Given the description of an element on the screen output the (x, y) to click on. 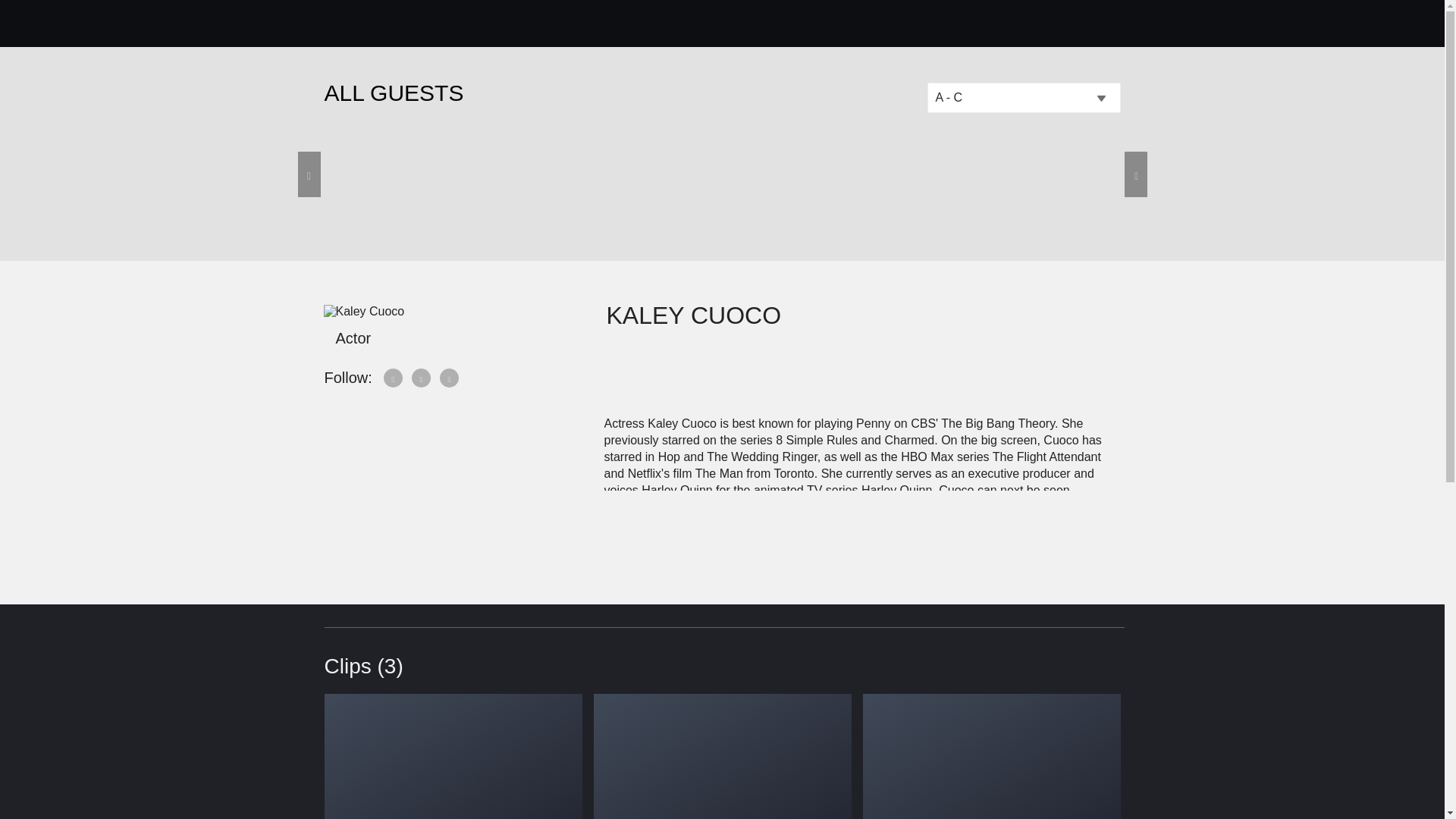
Facebook (393, 377)
Instagram (449, 377)
A - C (1022, 97)
Twitter (421, 377)
